Given the description of an element on the screen output the (x, y) to click on. 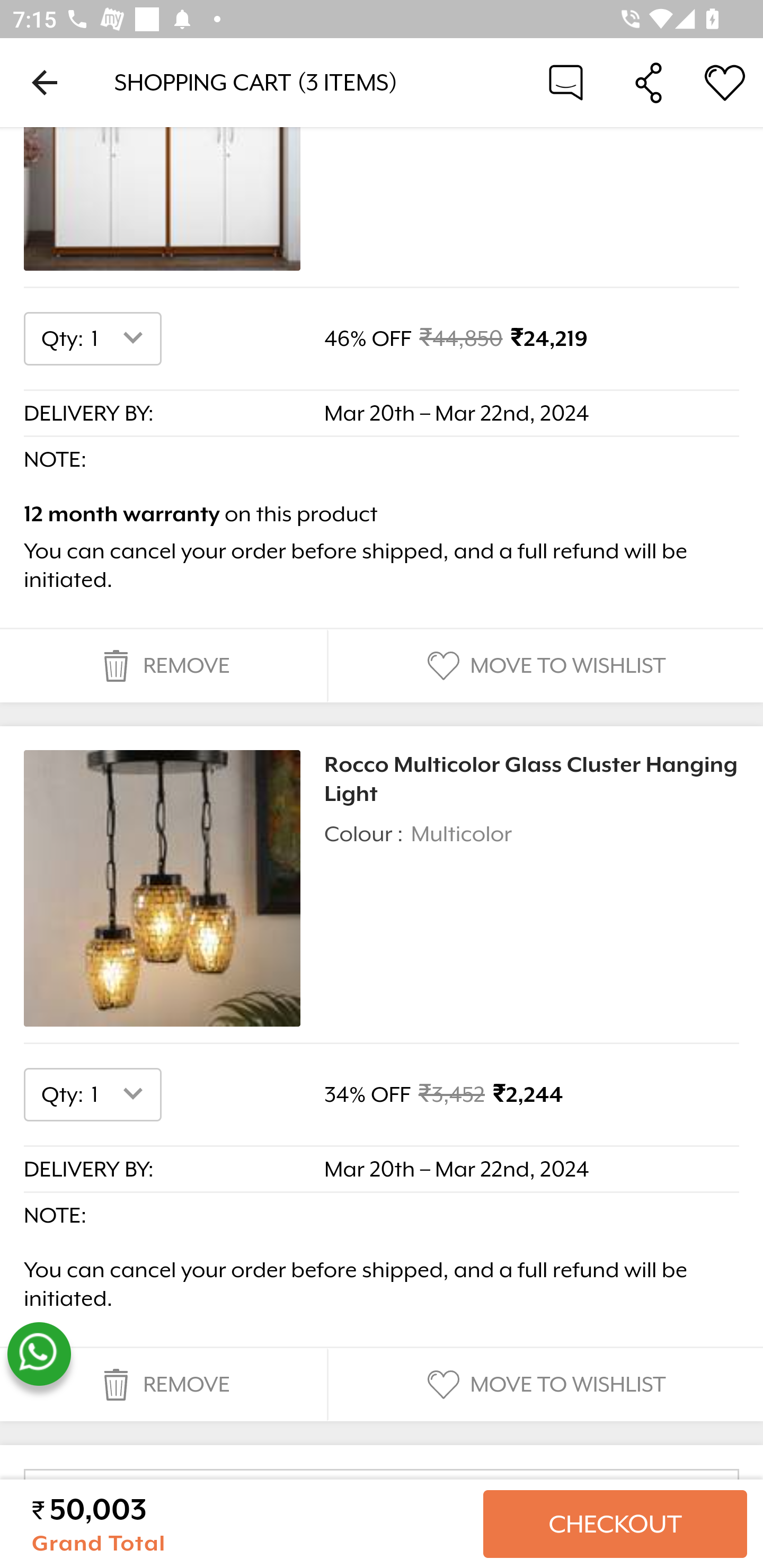
Navigate up (44, 82)
Chat (565, 81)
Share Cart (648, 81)
Wishlist (724, 81)
1 (121, 339)
REMOVE (163, 666)
MOVE TO WISHLIST (544, 666)
1 (121, 1095)
whatsapp (38, 1354)
REMOVE (163, 1384)
MOVE TO WISHLIST (544, 1384)
₹ 50,003 Grand Total (250, 1523)
CHECKOUT (614, 1523)
